Given the description of an element on the screen output the (x, y) to click on. 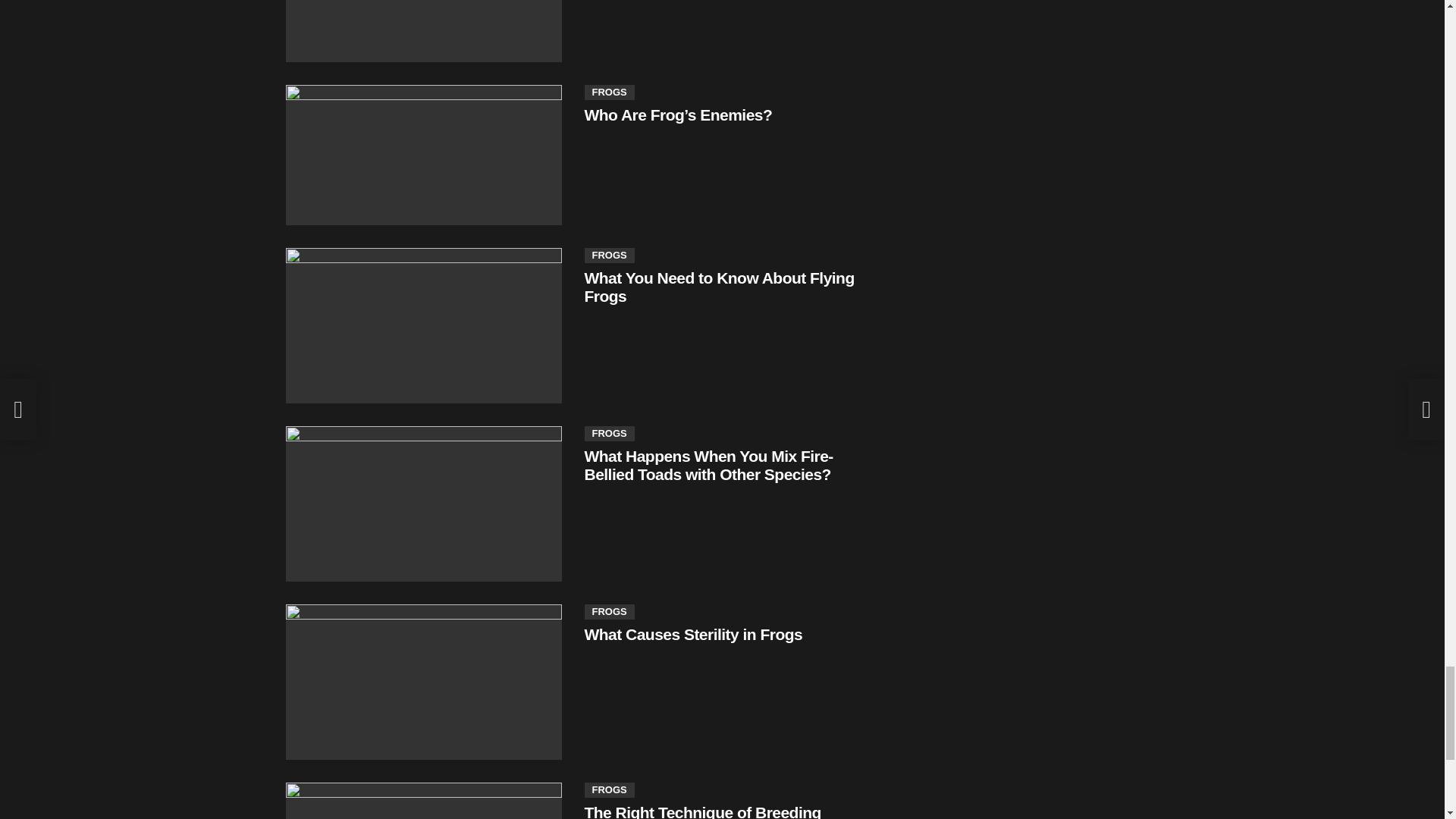
Why Having Microhabitats for Frogs is A Good Method (422, 31)
What You Need to Know About Flying Frogs (422, 325)
